Given the description of an element on the screen output the (x, y) to click on. 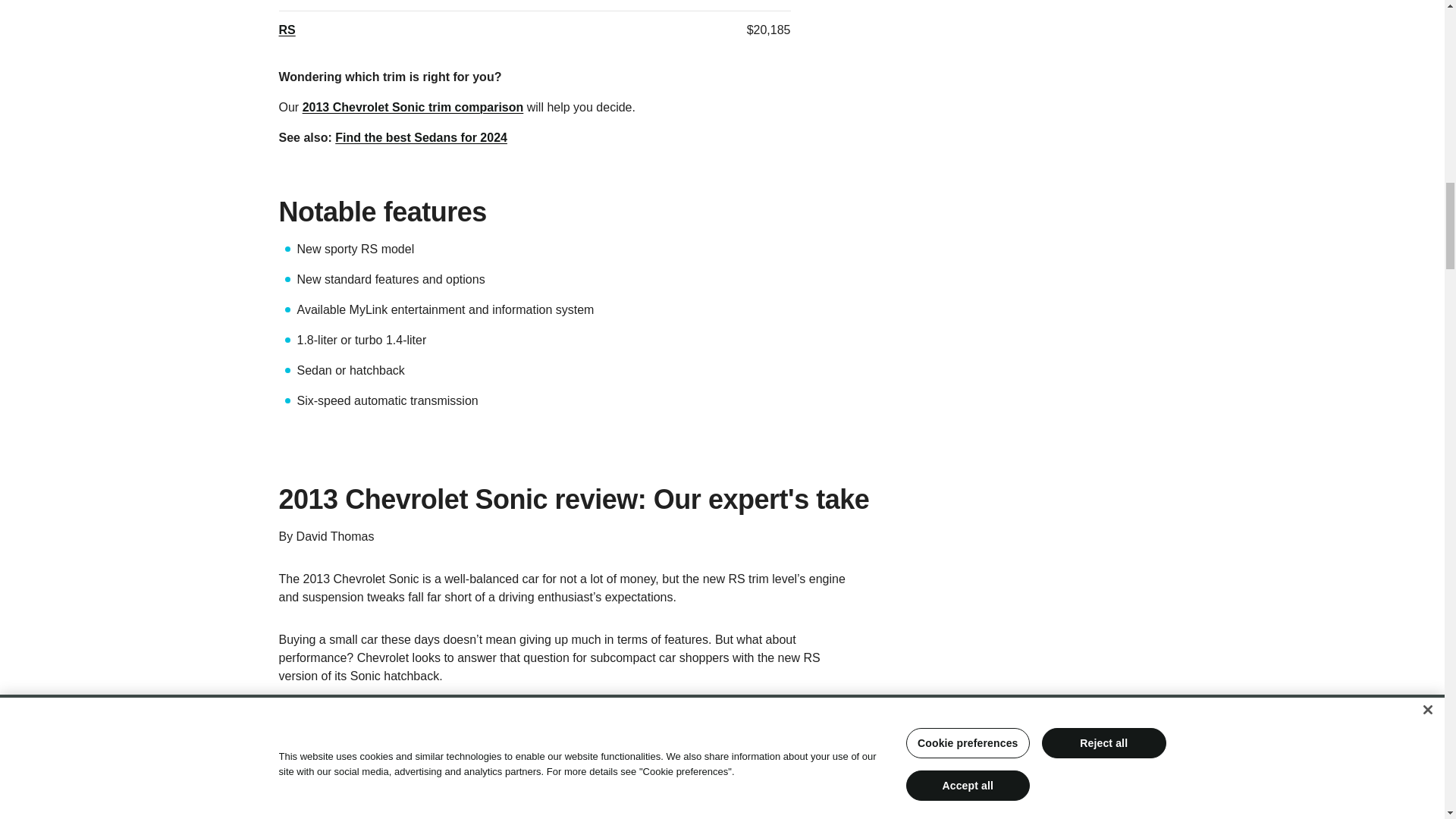
Find the best Sedans for 2024 (420, 137)
2013 Chevrolet Sonic trim comparison (413, 106)
here (486, 754)
RS (287, 30)
here (425, 797)
here (762, 736)
